Given the description of an element on the screen output the (x, y) to click on. 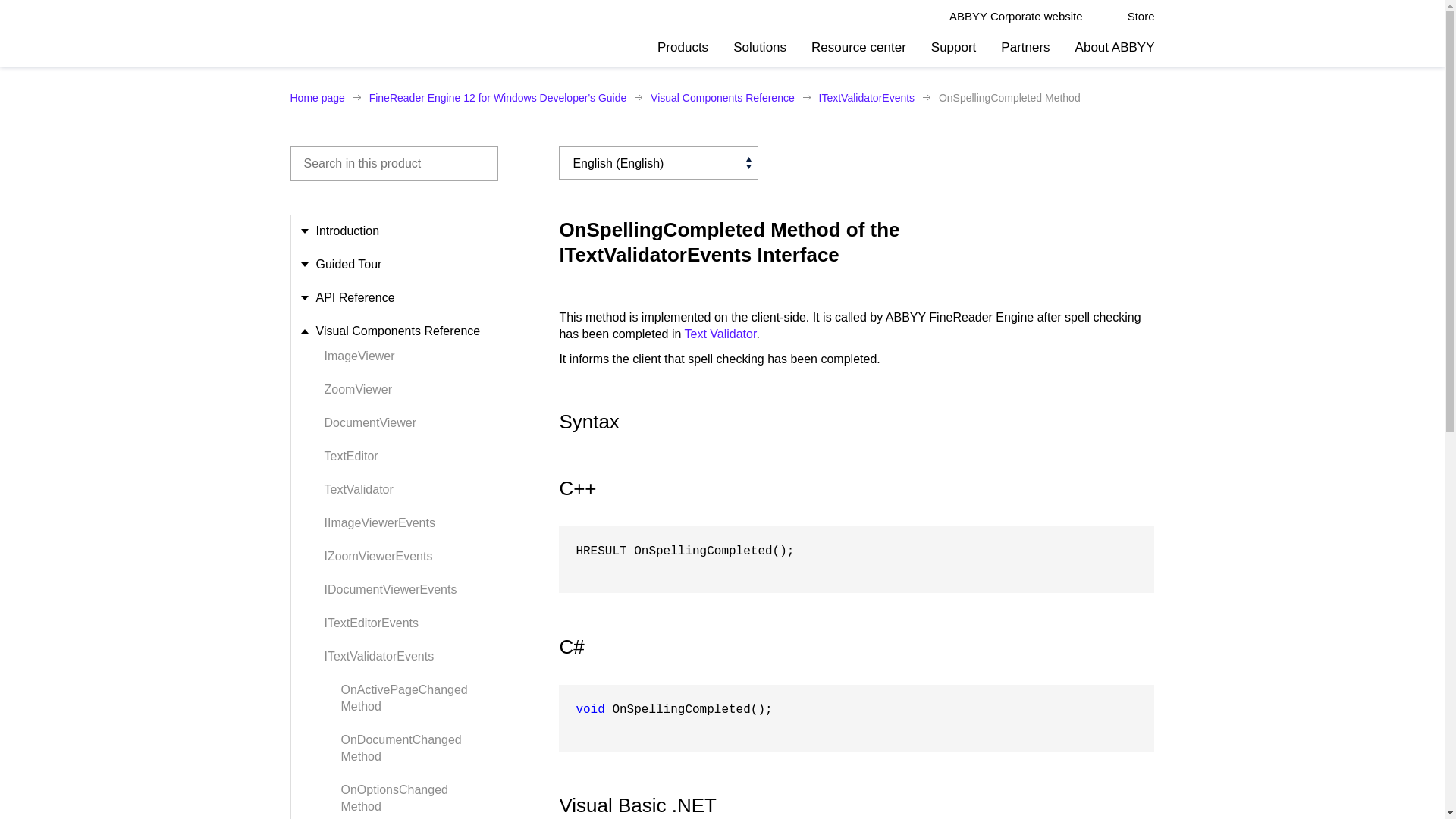
Home page (316, 97)
ABBYY Corporate website (1016, 16)
Solutions (759, 52)
ABBYY Corporate website (1016, 16)
ABBYY (329, 33)
About ABBYY (1114, 52)
Partners (1025, 52)
Store (1131, 16)
Products (682, 52)
Support (953, 52)
Visual Components Reference (722, 97)
Buy ABBYY software (1131, 16)
FineReader Engine 12 for Windows Developer's Guide (498, 97)
ITextValidatorEvents (866, 97)
Introduction (343, 231)
